Given the description of an element on the screen output the (x, y) to click on. 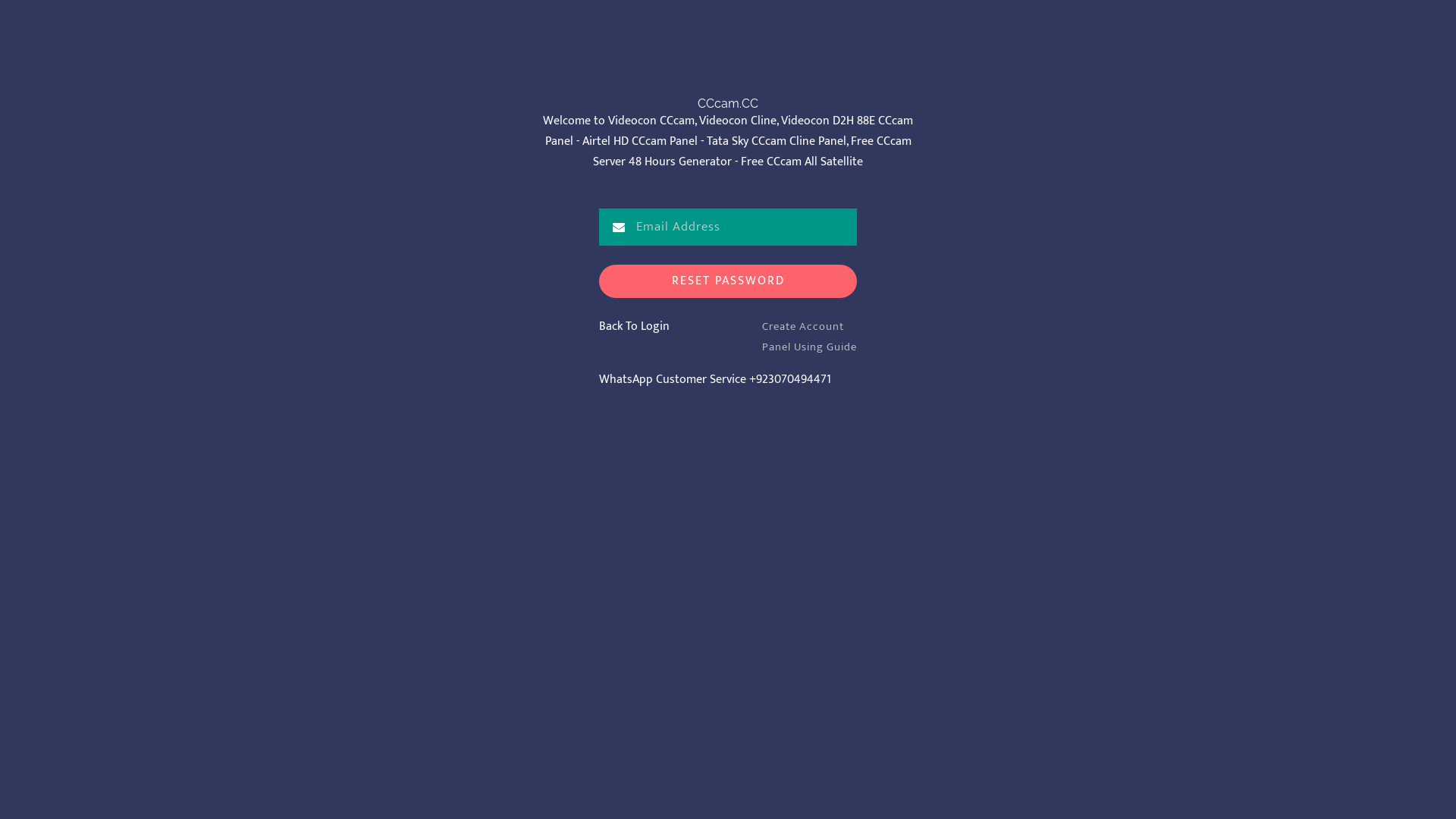
Panel Using Guide Element type: text (809, 346)
RESET PASSWORD Element type: text (727, 281)
Back To Login Element type: text (634, 326)
CCcam.CC Element type: text (727, 103)
Create Account Element type: text (803, 325)
